Given the description of an element on the screen output the (x, y) to click on. 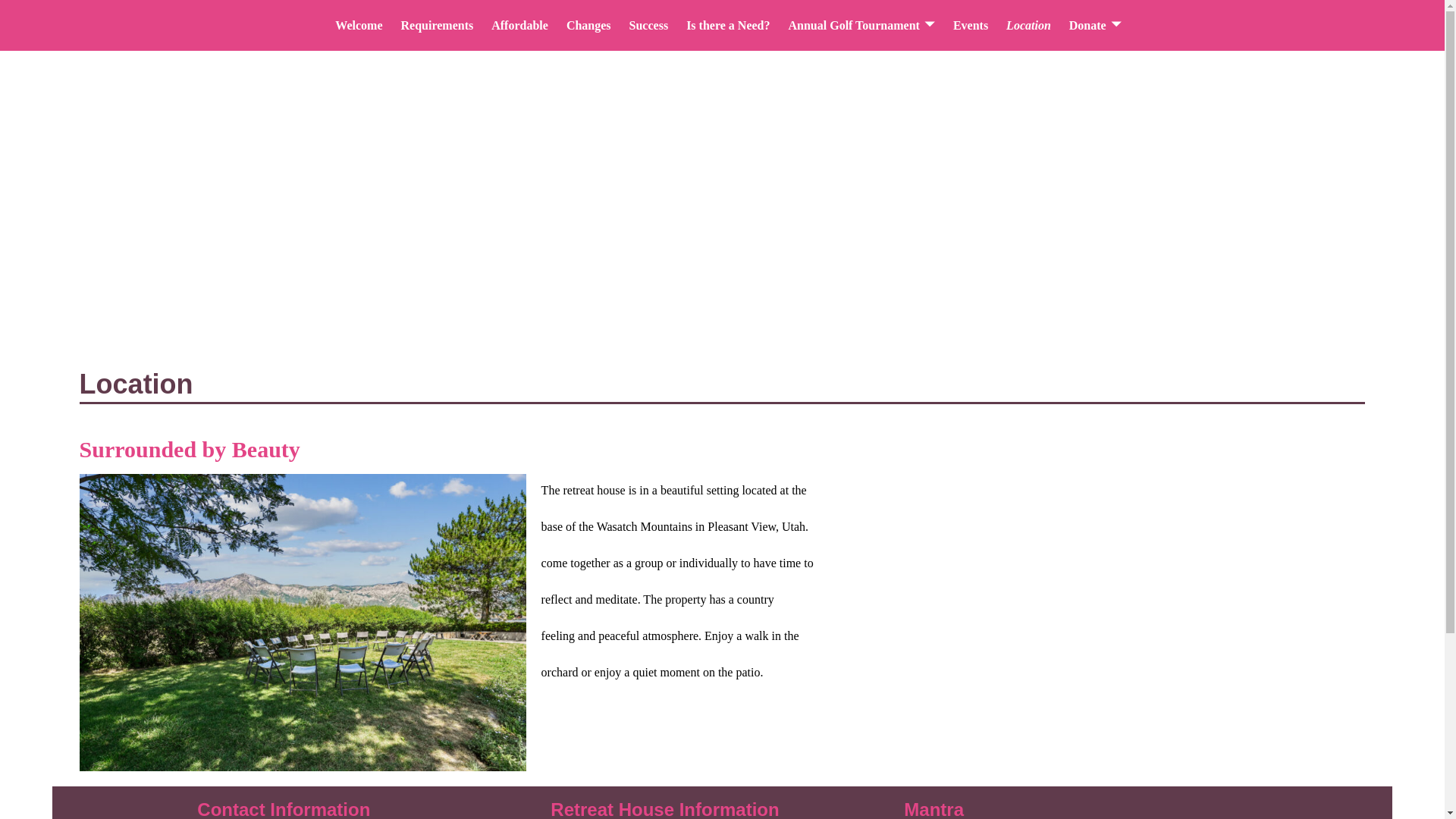
Events (970, 25)
Requirements (437, 25)
Location (1028, 25)
Welcome (358, 25)
Changes (588, 25)
Annual Golf Tournament (860, 25)
Affordable (519, 25)
Success (649, 25)
Is there a Need? (727, 25)
Donate (1095, 25)
